Given the description of an element on the screen output the (x, y) to click on. 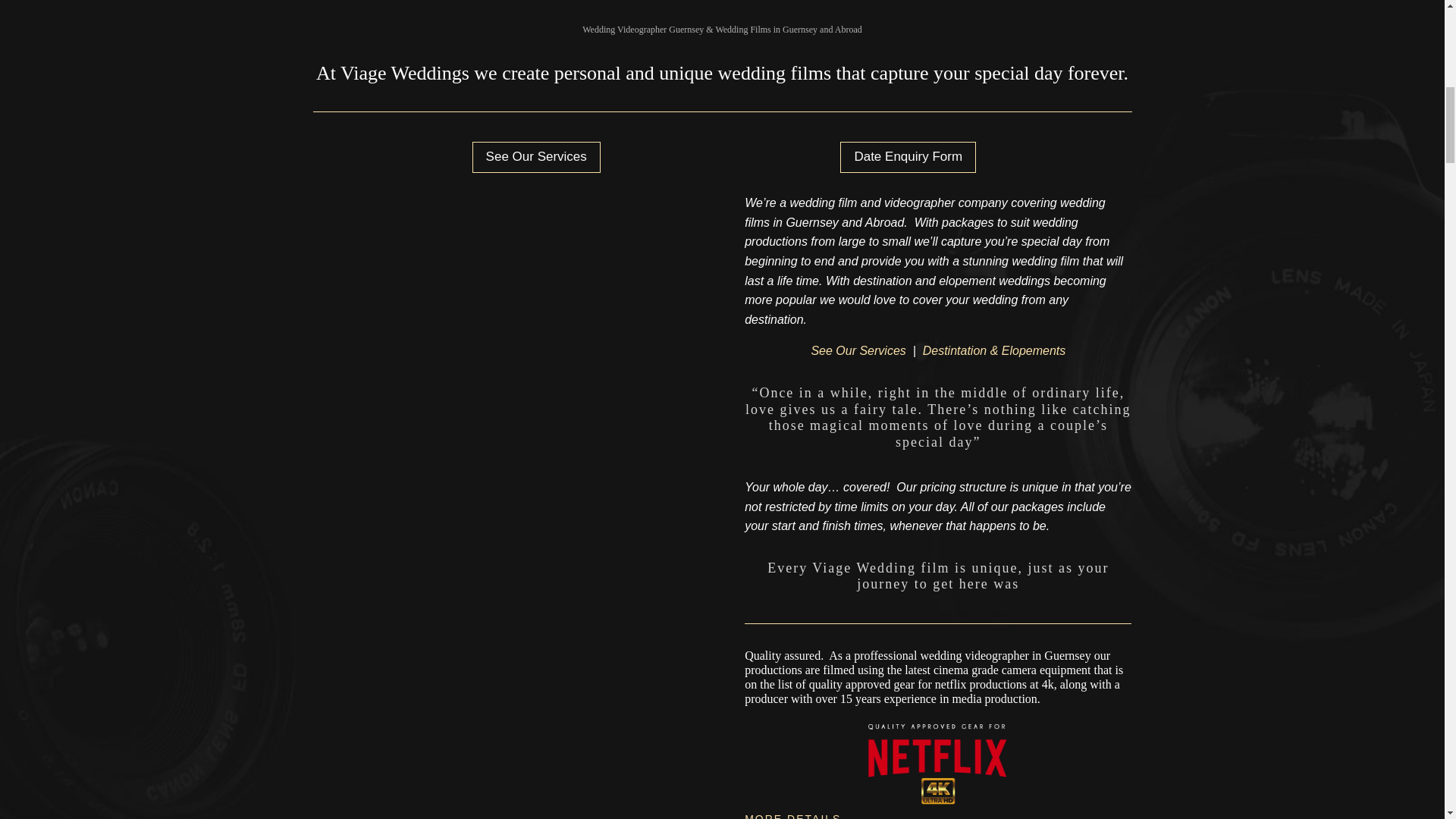
See Our Services (535, 156)
netflix4k copy (937, 760)
Date Enquiry Form (907, 156)
See Our Services (857, 350)
3 (722, 6)
